Given the description of an element on the screen output the (x, y) to click on. 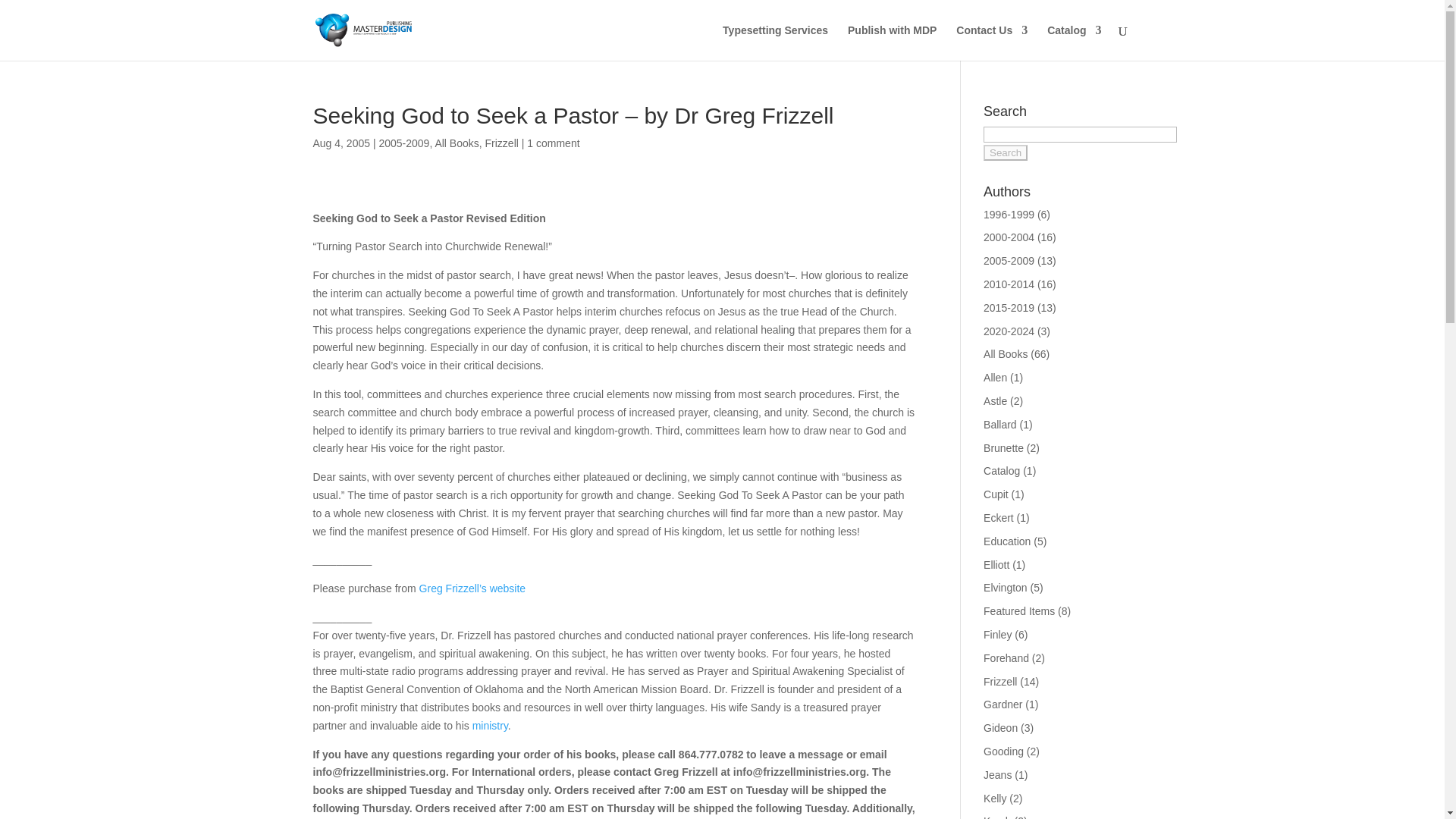
Catalog (1073, 42)
Typesetting Services (775, 42)
Contact Us (991, 42)
Publish with MDP (891, 42)
Search (1005, 152)
